Given the description of an element on the screen output the (x, y) to click on. 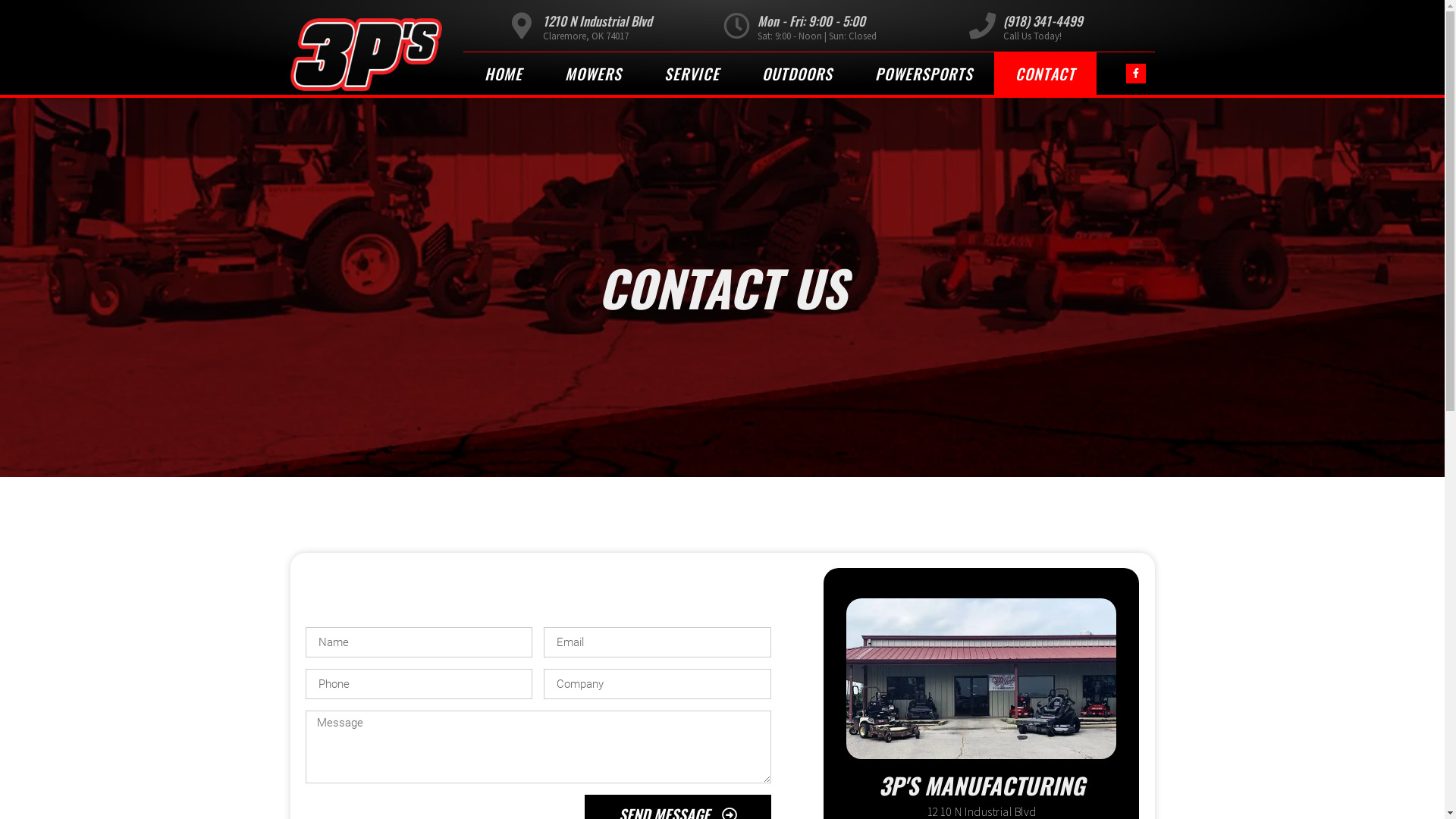
HOME Element type: text (502, 73)
CONTACT Element type: text (1044, 73)
MOWERS Element type: text (592, 73)
OUTDOORS Element type: text (796, 73)
POWERSPORTS Element type: text (923, 73)
SERVICE Element type: text (691, 73)
